Given the description of an element on the screen output the (x, y) to click on. 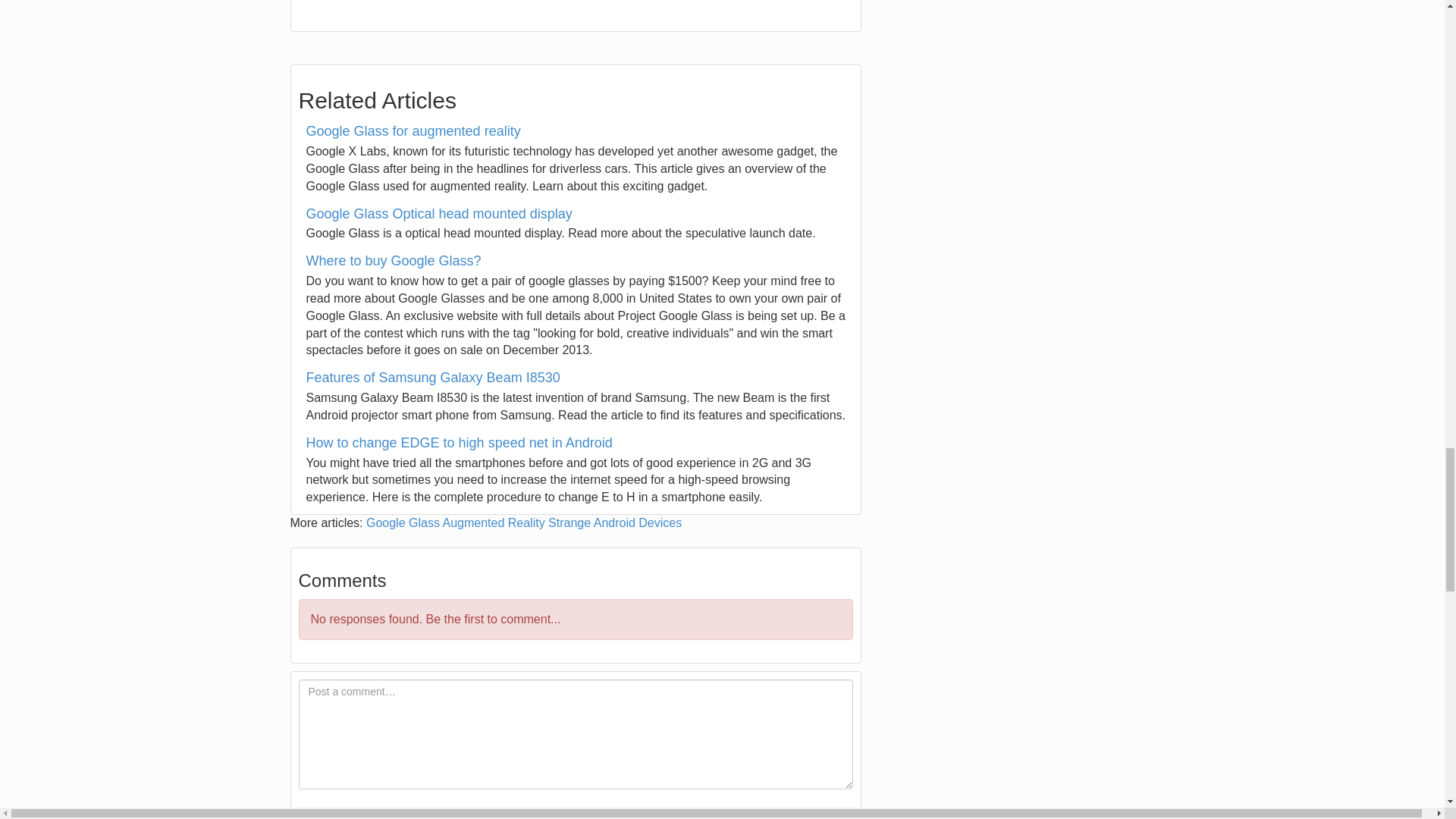
on (303, 814)
